Given the description of an element on the screen output the (x, y) to click on. 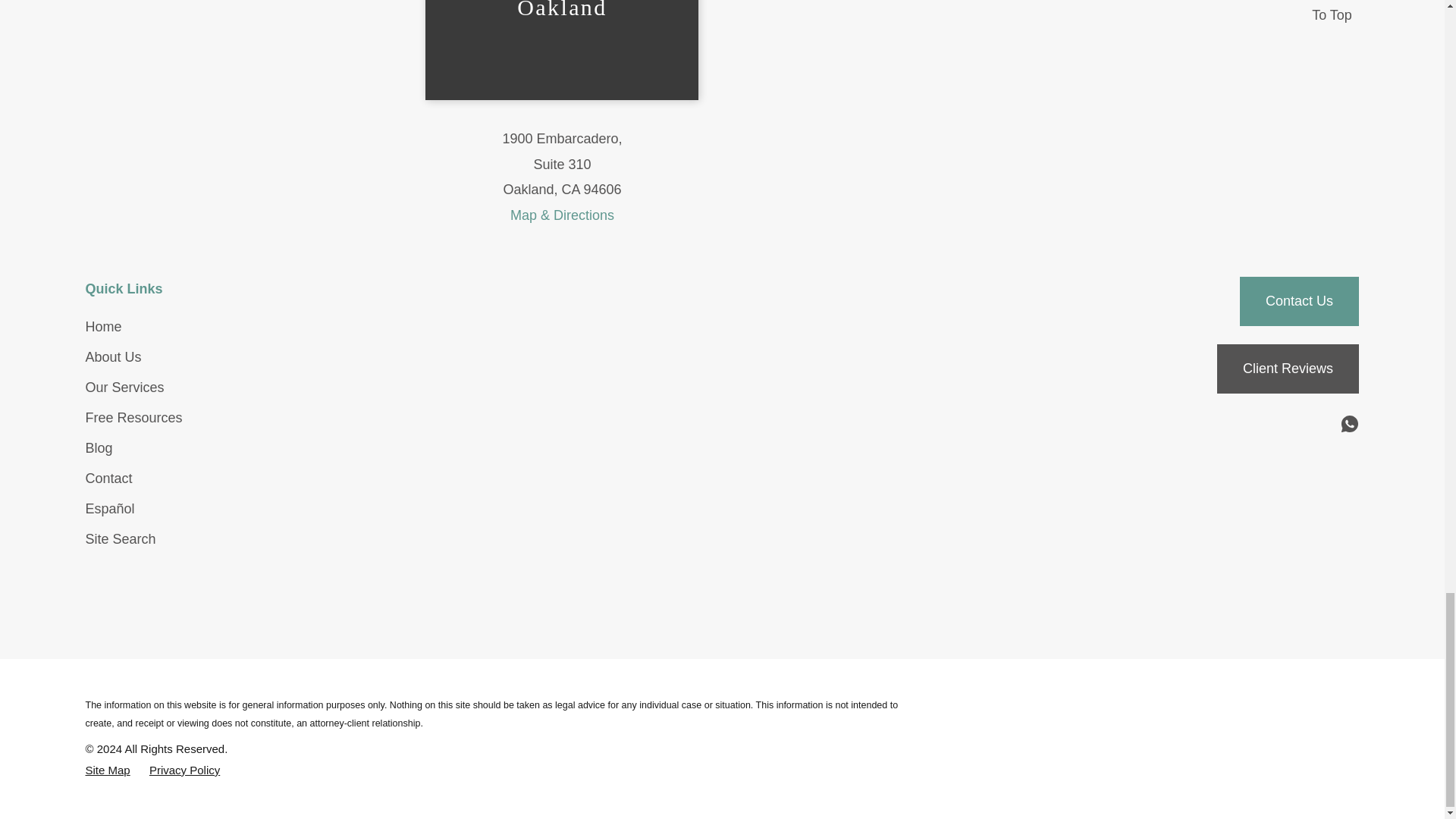
Facebook (1227, 424)
YouTube (1319, 424)
LinkedIn (1257, 424)
Instagram (1289, 424)
